Given the description of an element on the screen output the (x, y) to click on. 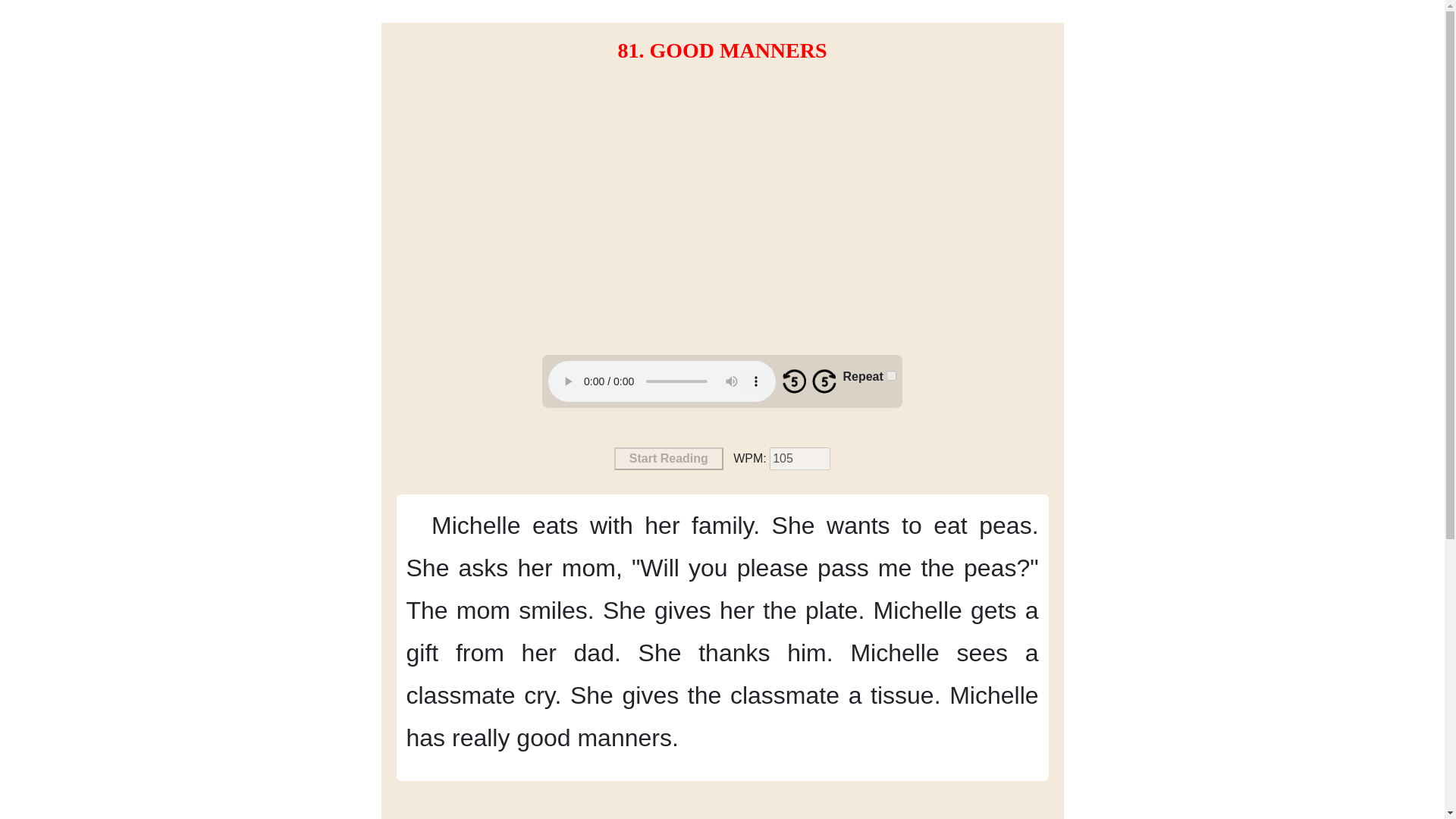
on (891, 375)
105 (799, 458)
Start Reading (668, 458)
